Given the description of an element on the screen output the (x, y) to click on. 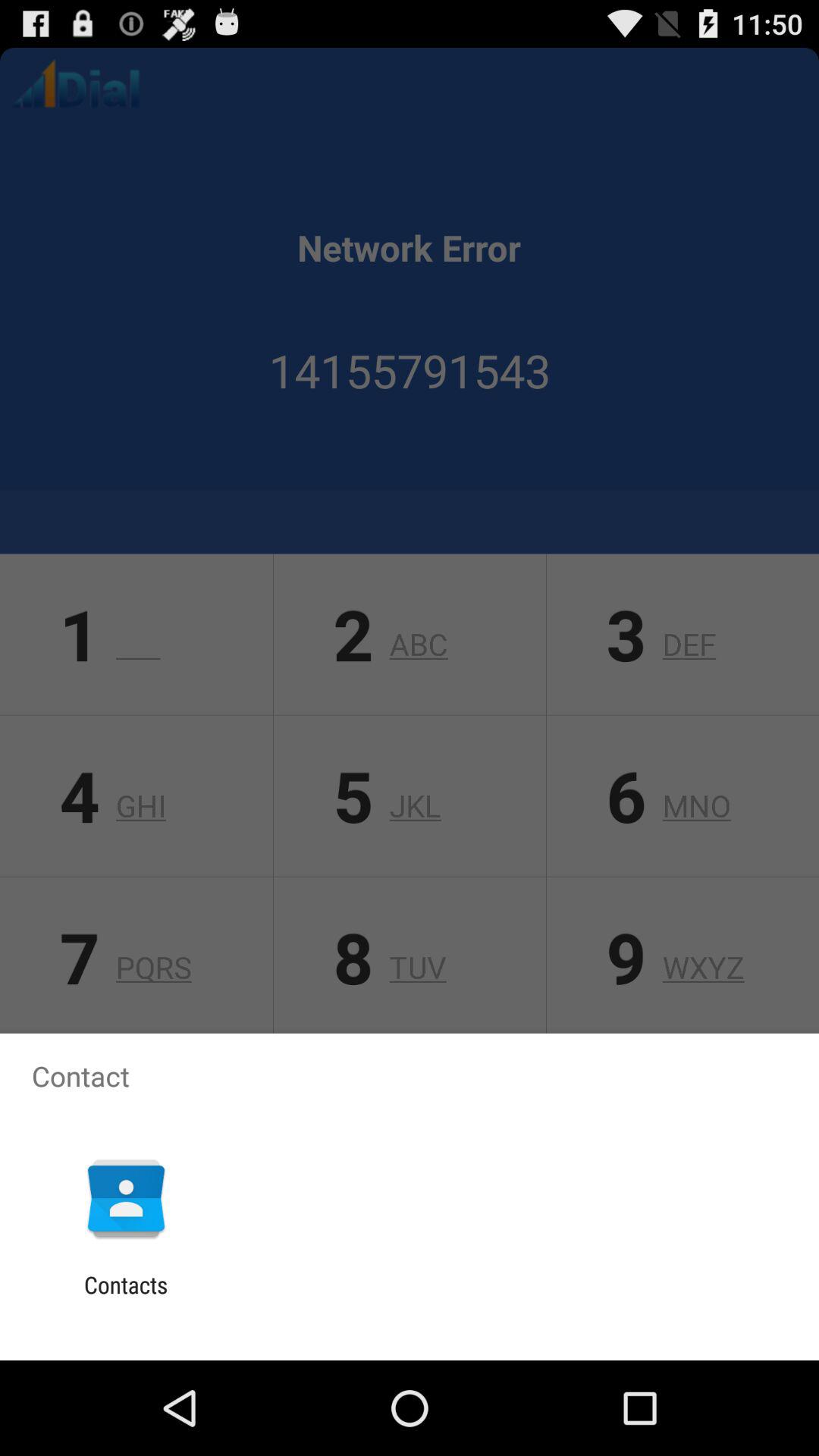
flip until contacts icon (125, 1298)
